Given the description of an element on the screen output the (x, y) to click on. 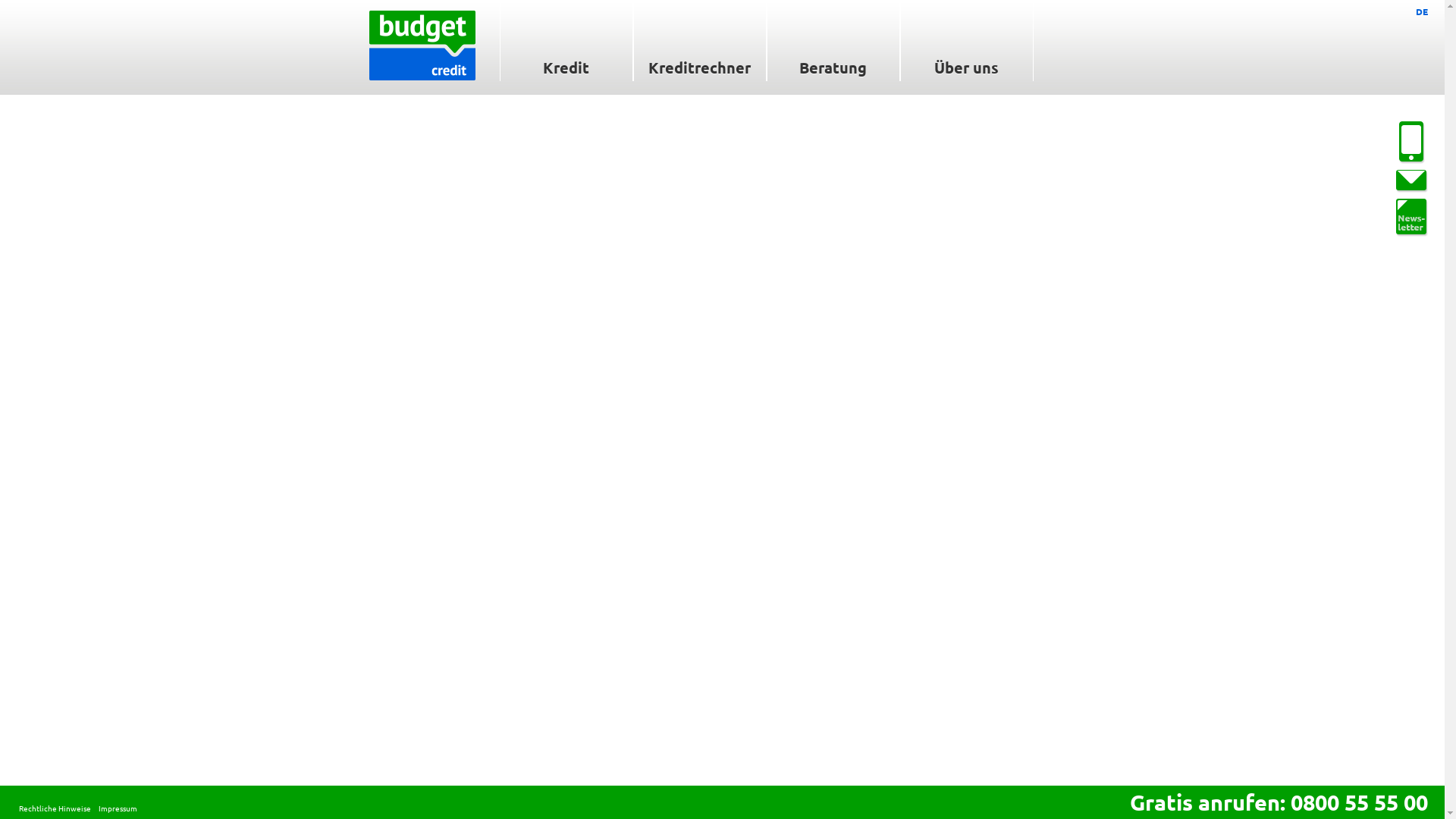
Rechtliche Hinweise Element type: text (54, 807)
Beratung Element type: text (832, 40)
DE Element type: text (1421, 11)
Kredit Element type: text (565, 40)
Kreditrechner Element type: text (698, 40)
Impressum Element type: text (117, 807)
